Given the description of an element on the screen output the (x, y) to click on. 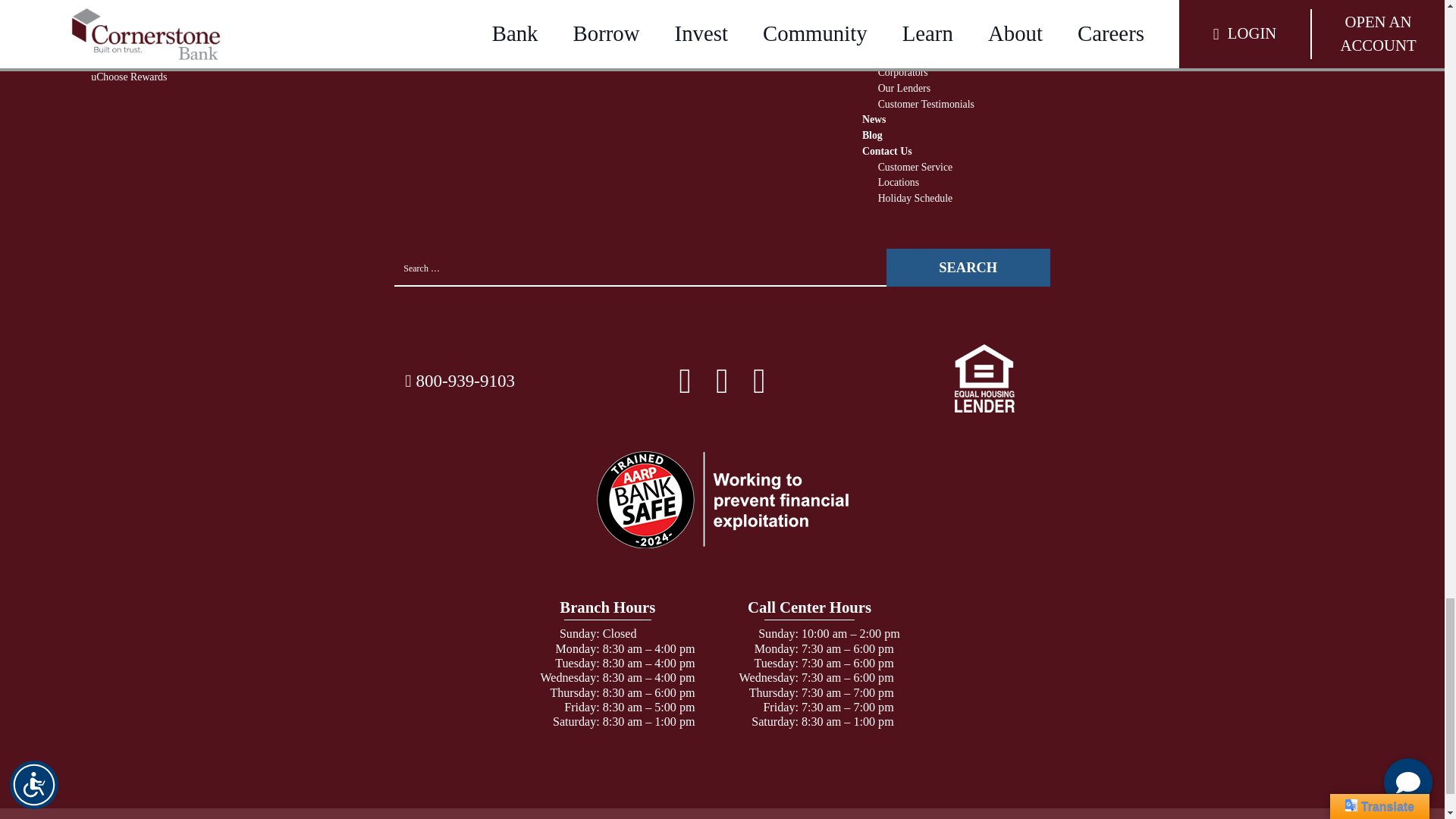
Search (967, 267)
Search (967, 267)
